Given the description of an element on the screen output the (x, y) to click on. 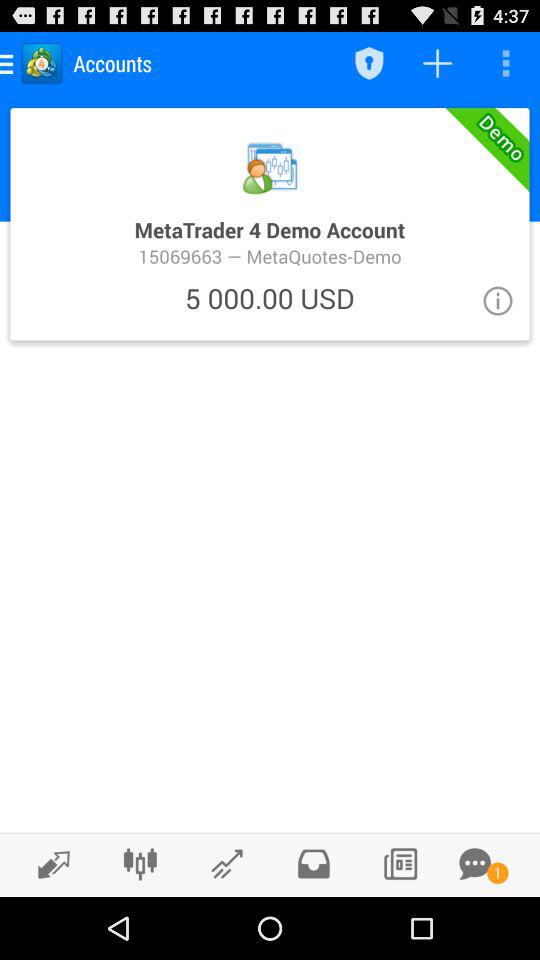
text toggle (475, 864)
